Given the description of an element on the screen output the (x, y) to click on. 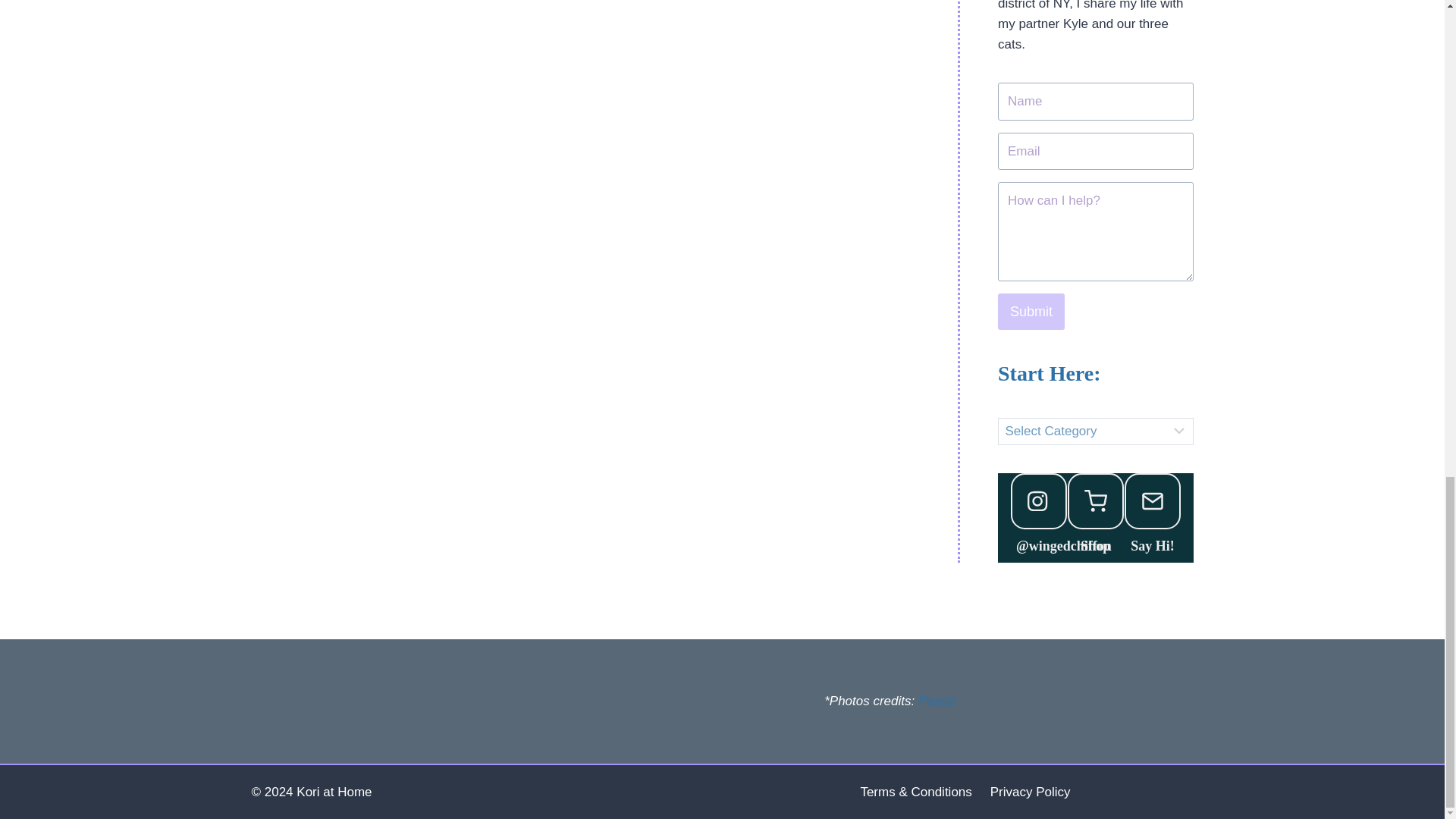
Say Hi! (1151, 546)
Privacy Policy (1030, 791)
Shop (1095, 546)
Submit (1030, 311)
Pexels (937, 700)
